Given the description of an element on the screen output the (x, y) to click on. 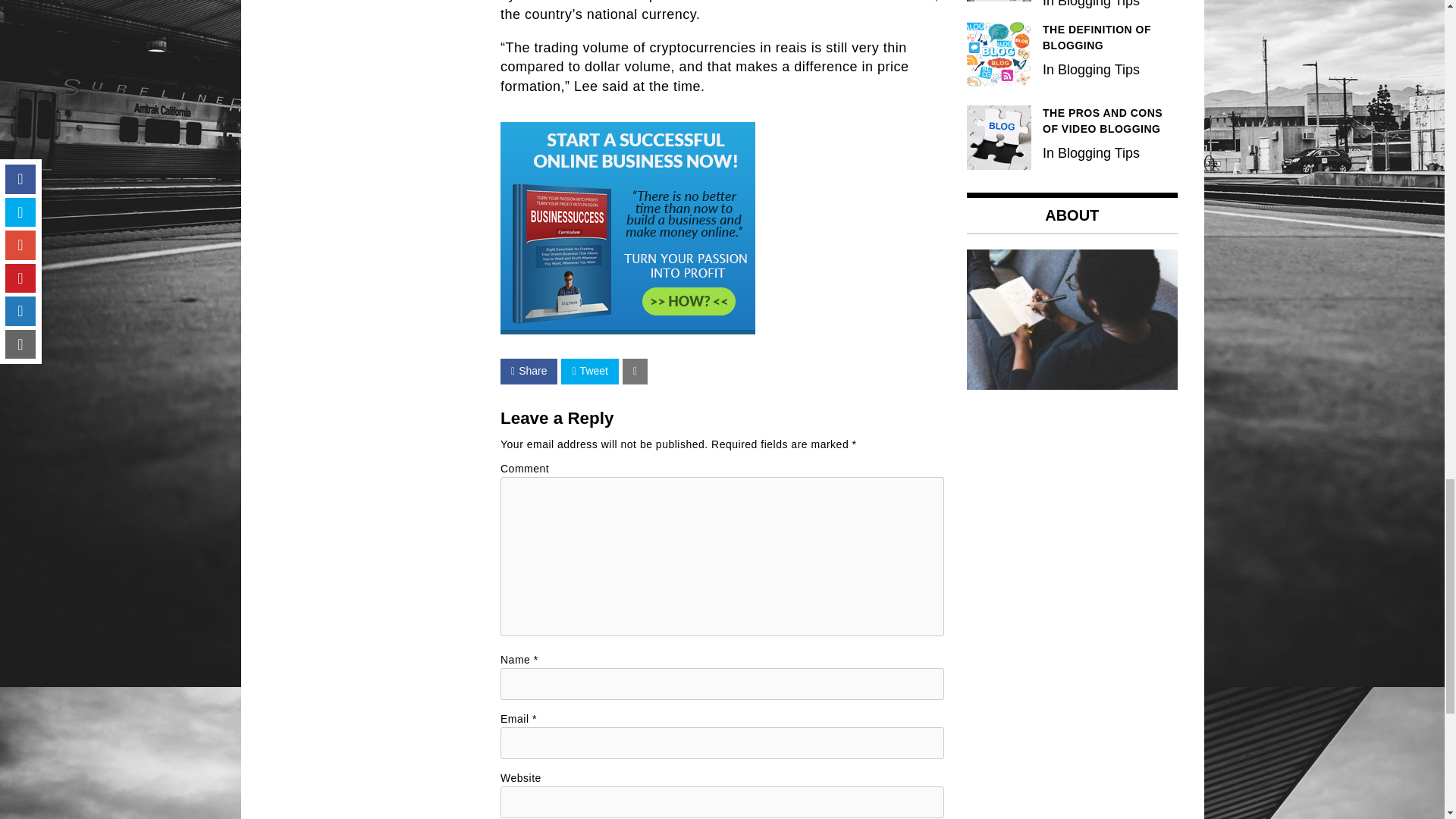
Share On Facebook (528, 371)
Tweet on Twitter (588, 371)
How to Start an Online Business (627, 228)
Share (528, 371)
How to Start an Online Business (627, 329)
Tweet (588, 371)
